Given the description of an element on the screen output the (x, y) to click on. 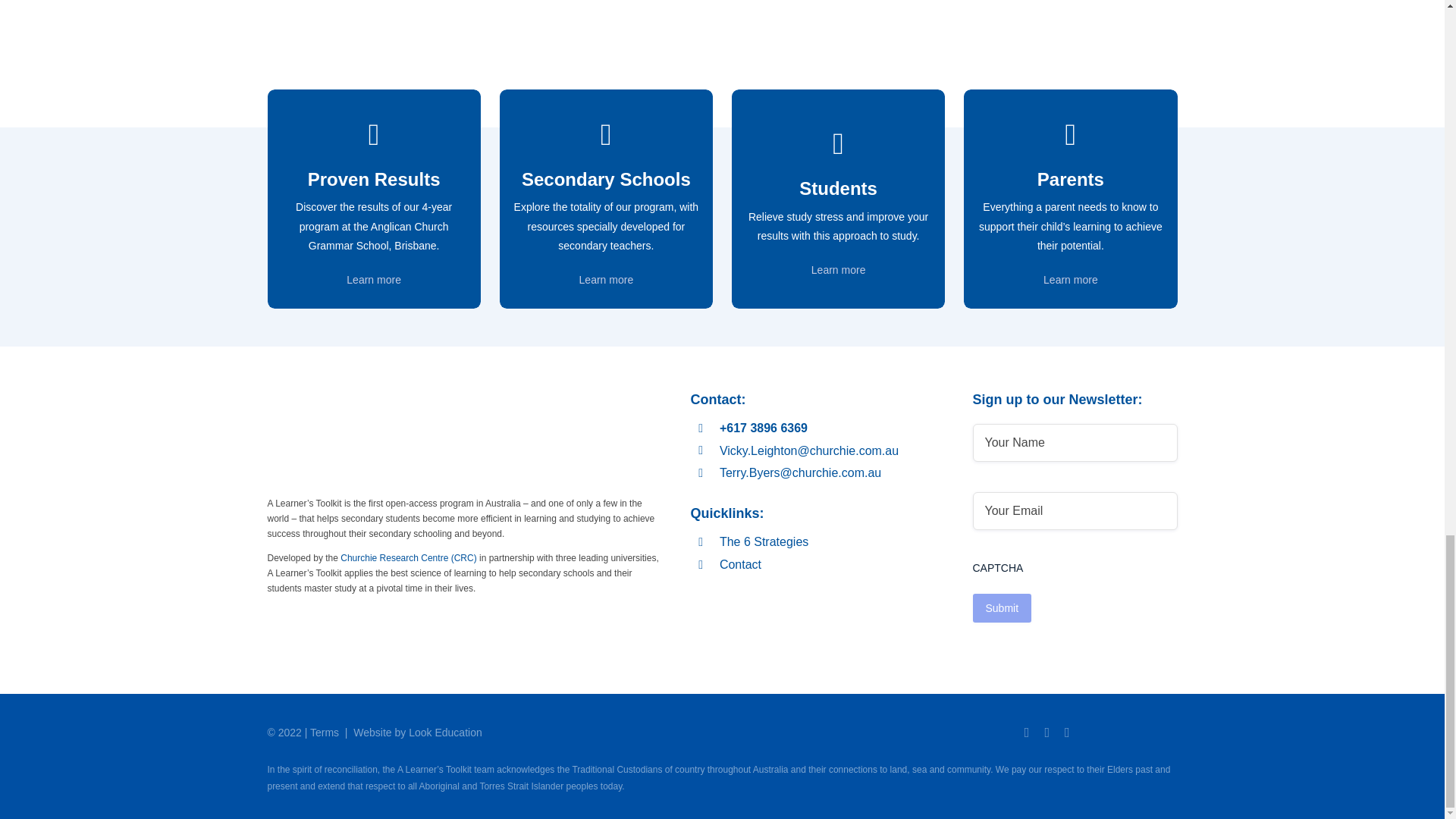
X (1027, 732)
Submit (1001, 607)
Learners-logo (334, 439)
Learn more (838, 269)
Instagram (1046, 732)
YouTube (1067, 732)
Learn more (373, 279)
Learn more (606, 279)
